Given the description of an element on the screen output the (x, y) to click on. 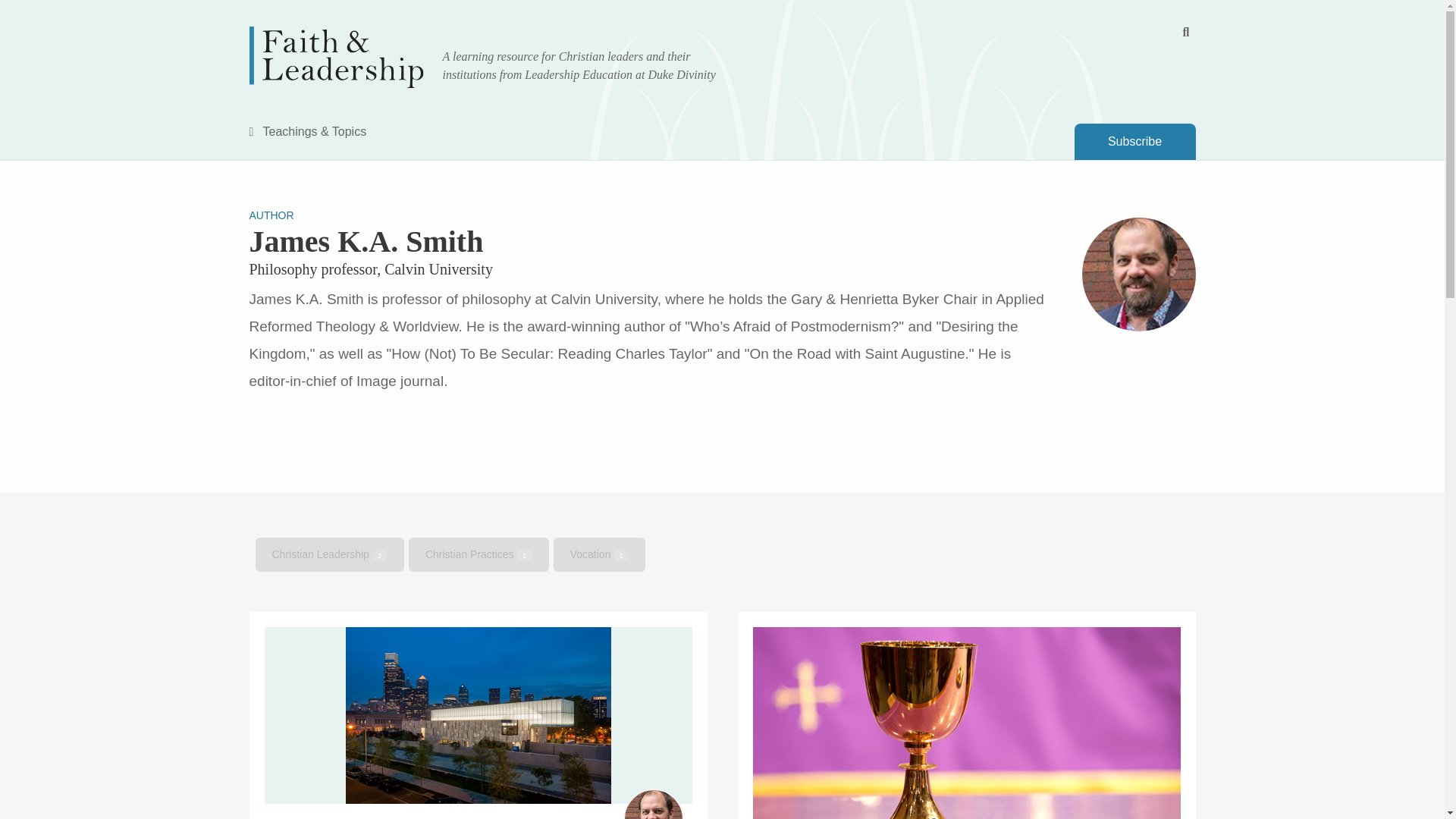
Subscribe (1134, 141)
Link to author James K.A. Smith (653, 803)
AUTHOR (271, 215)
Toggle Search (1185, 32)
